Given the description of an element on the screen output the (x, y) to click on. 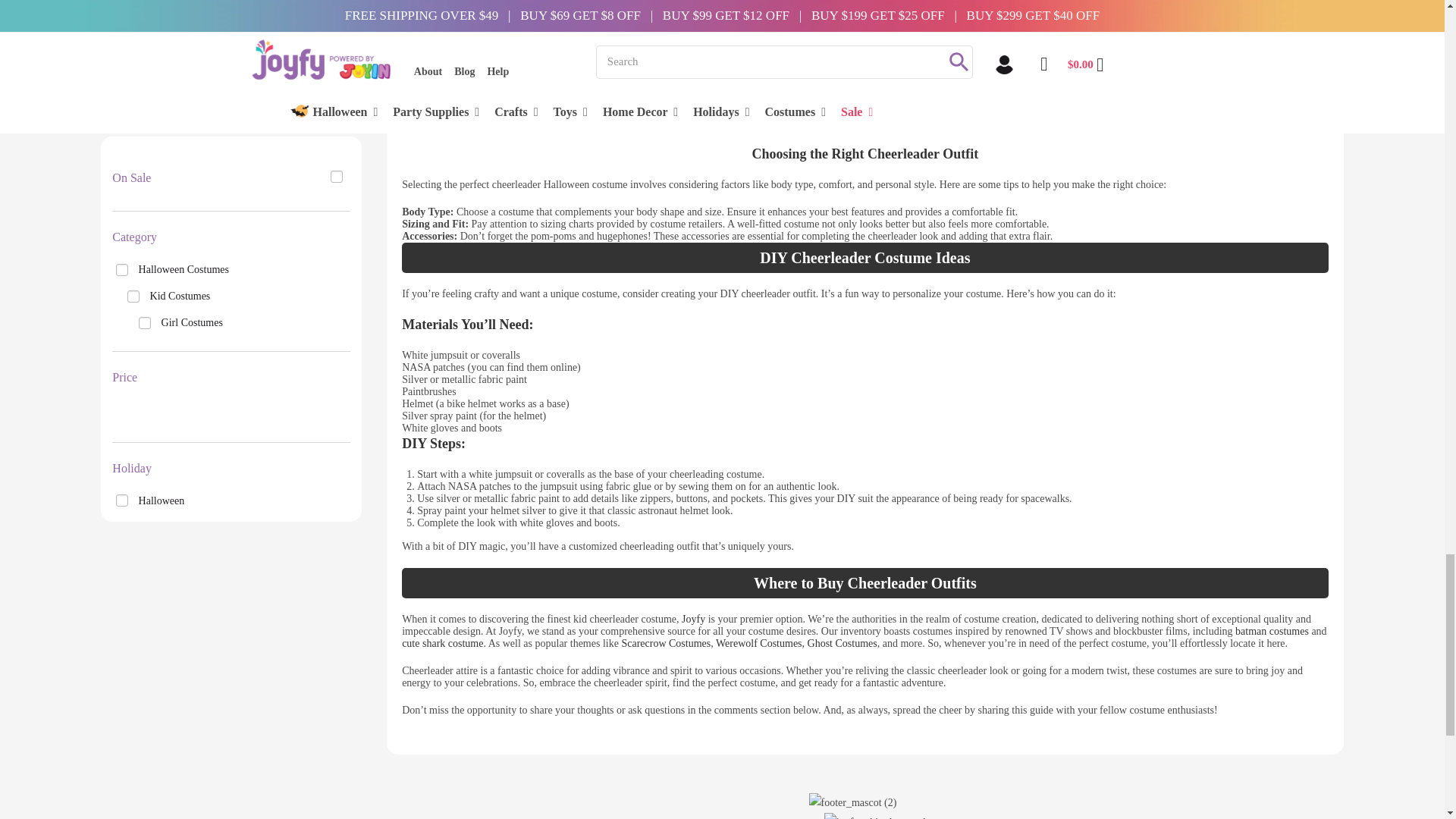
joyfy-white-logo.webp (879, 816)
